Given the description of an element on the screen output the (x, y) to click on. 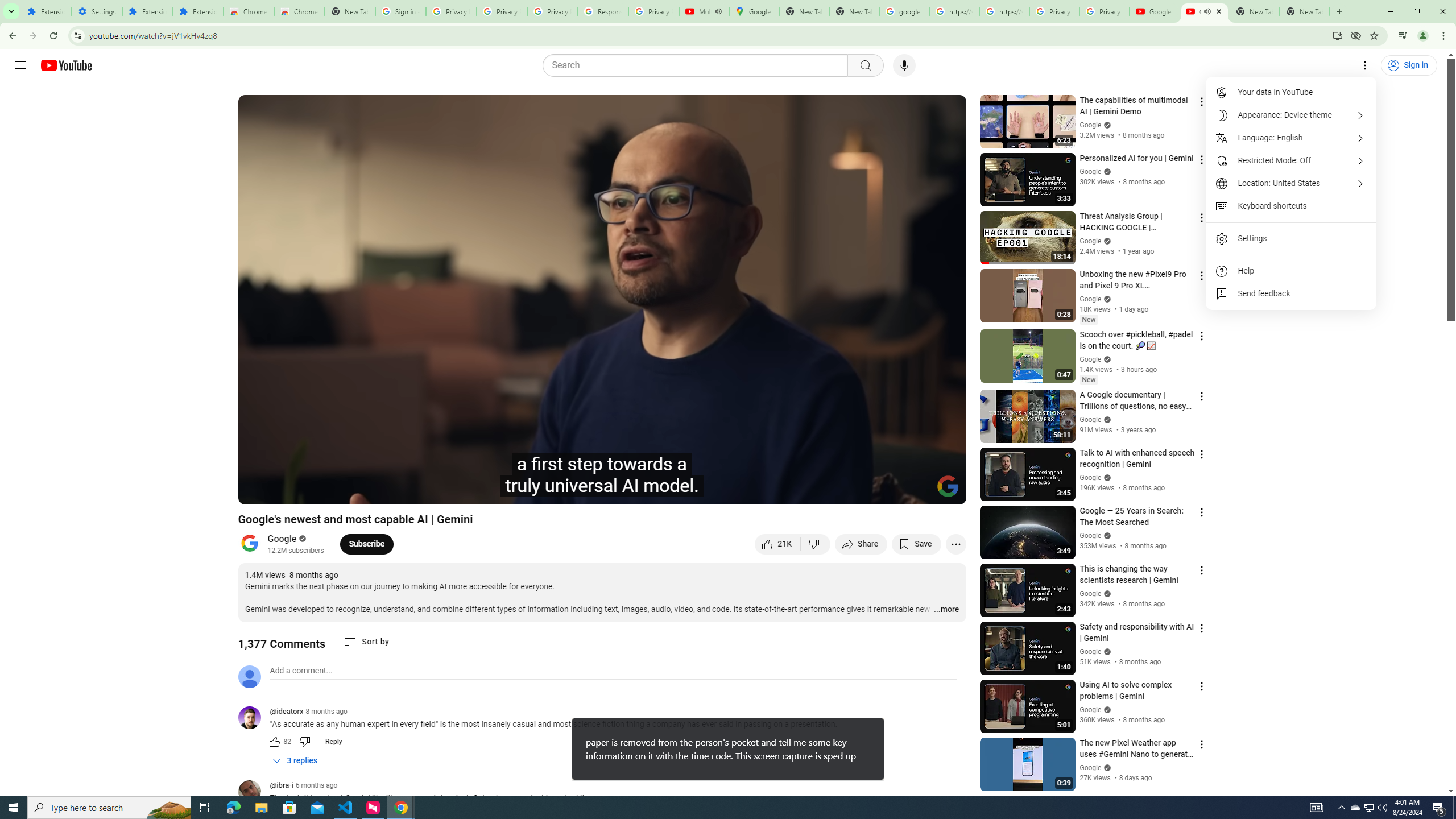
AutomationID: simplebox-placeholder (301, 670)
Language: English (1291, 137)
Your data in YouTube (1291, 92)
6 months ago (316, 785)
New Tab (1304, 11)
Chrome Web Store (248, 11)
Restricted Mode: Off (1291, 160)
3 replies (295, 761)
like this video along with 21,118 other people (777, 543)
New Tab (350, 11)
https://scholar.google.com/ (954, 11)
